Given the description of an element on the screen output the (x, y) to click on. 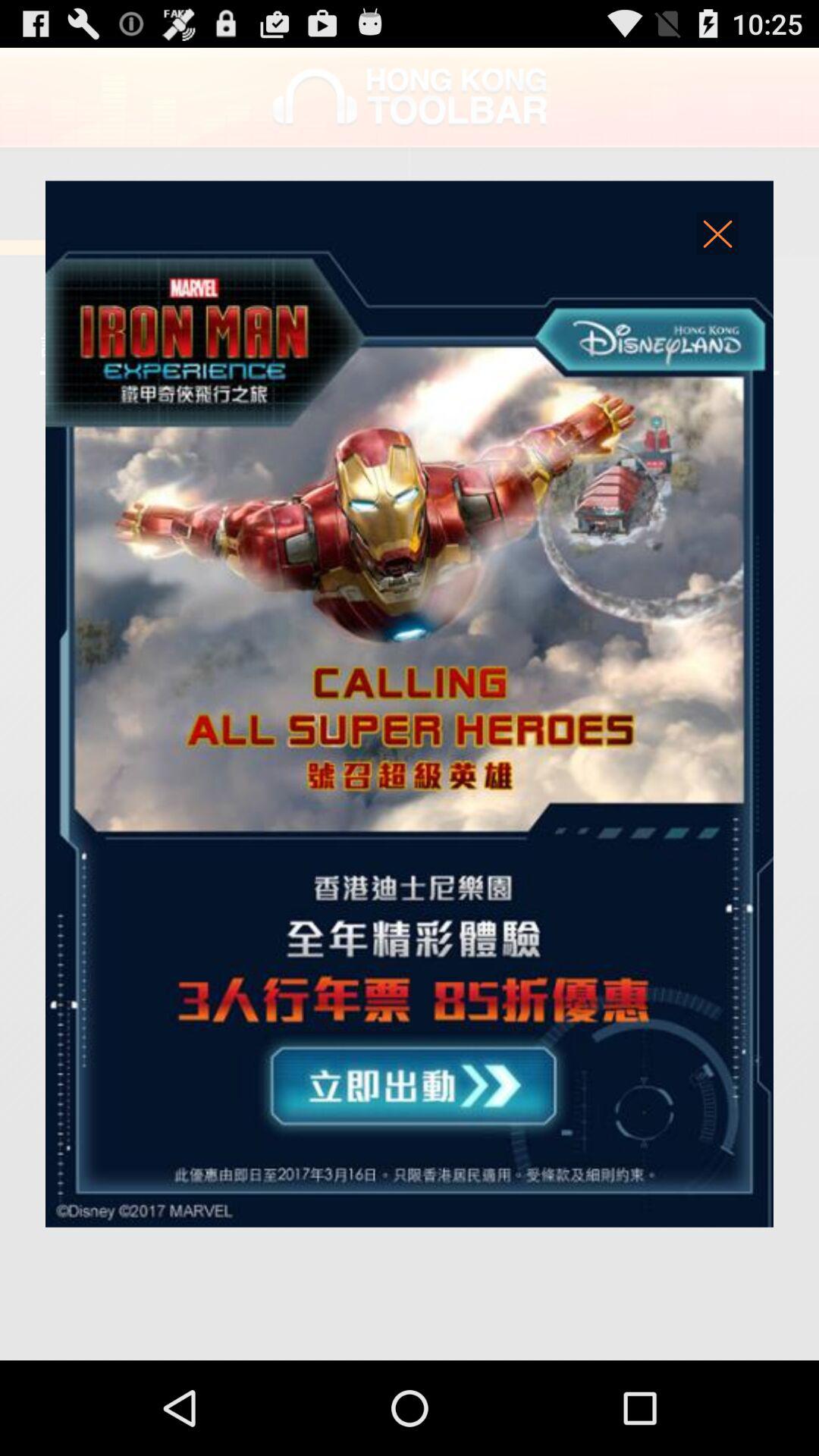
open an advertisements (409, 703)
